Given the description of an element on the screen output the (x, y) to click on. 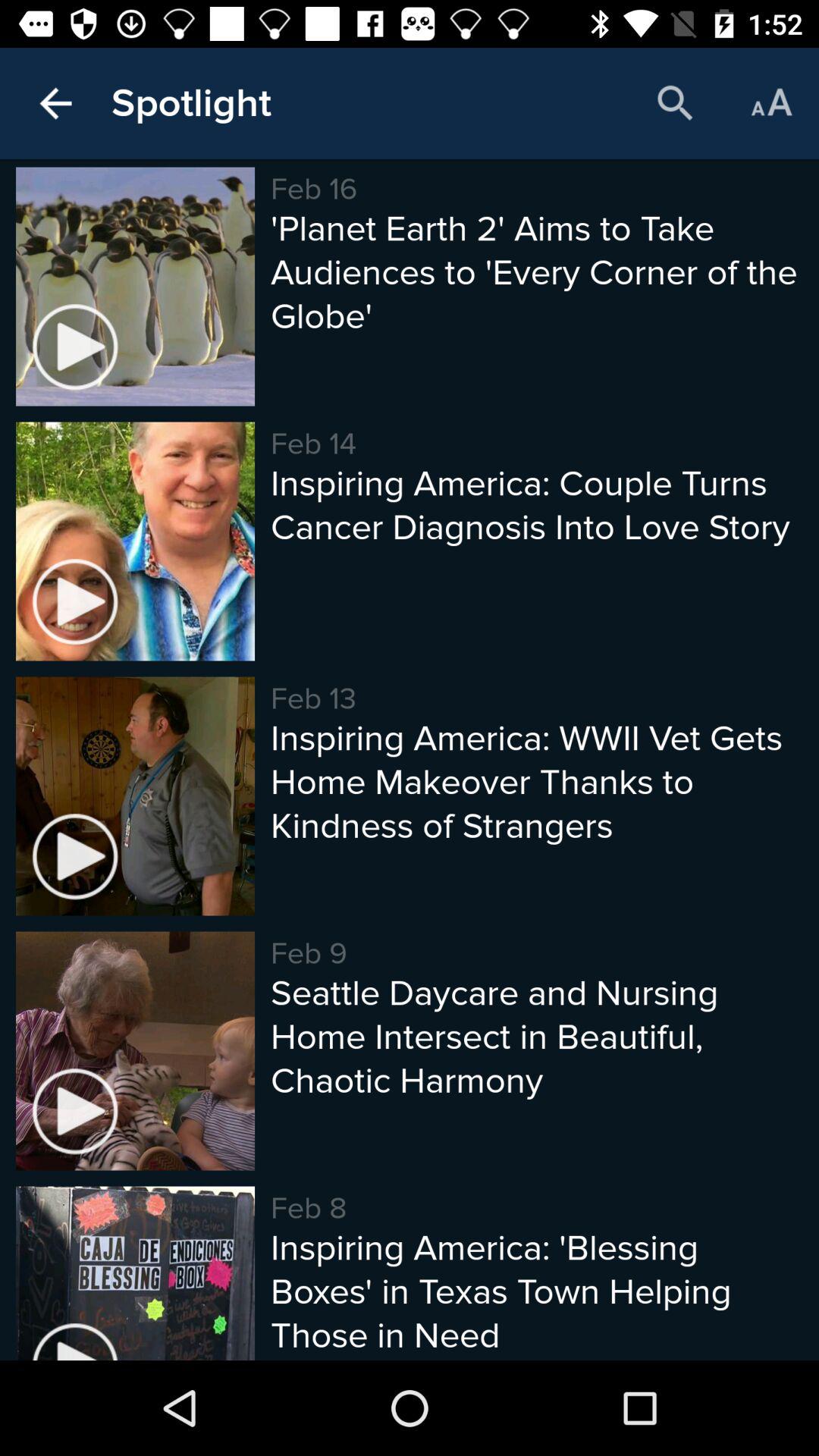
launch item next to the spotlight icon (675, 103)
